Given the description of an element on the screen output the (x, y) to click on. 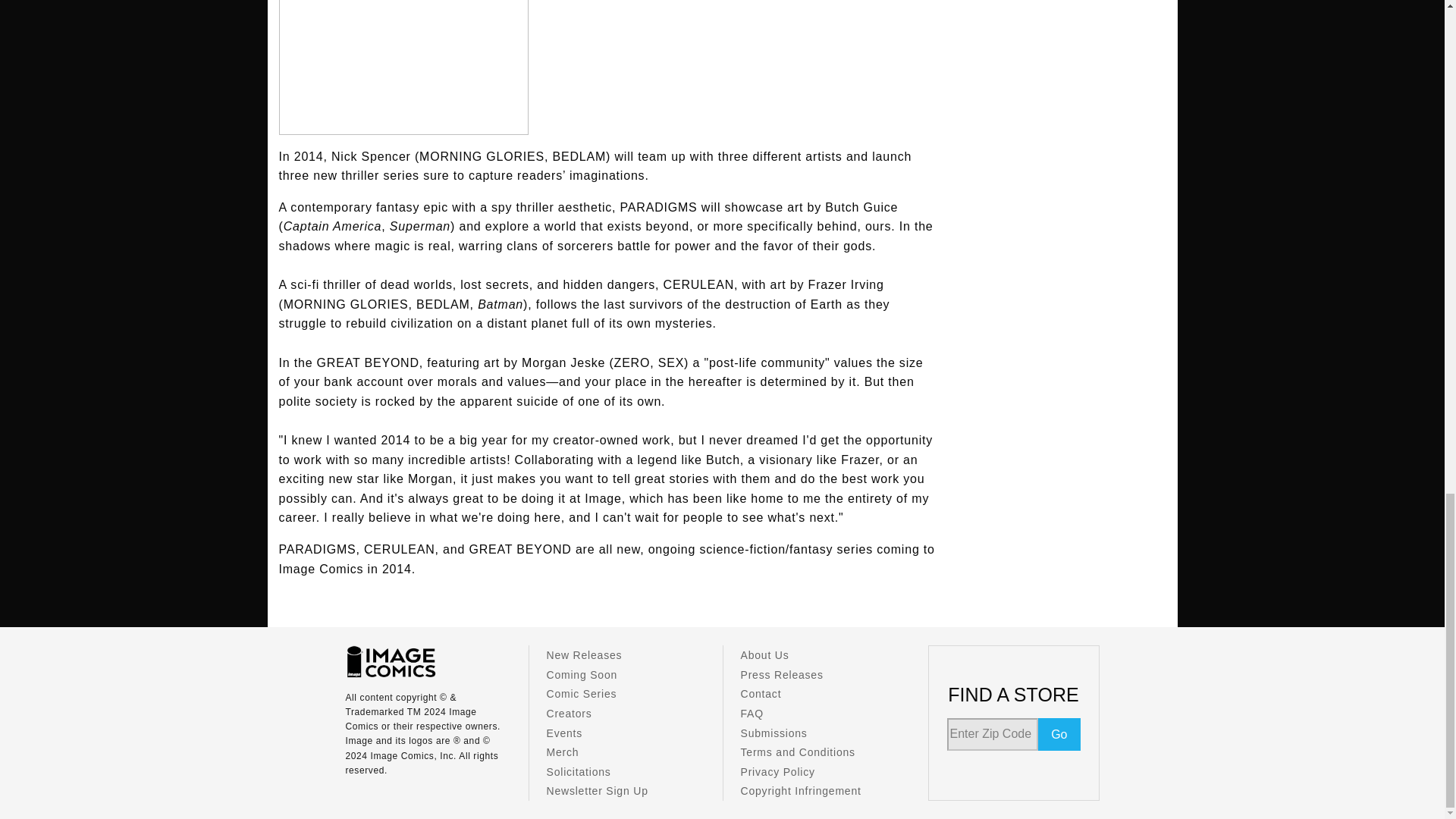
Events (564, 733)
Coming Soon (581, 674)
Creators (568, 713)
Comic Series (580, 693)
New Releases (583, 654)
